Given the description of an element on the screen output the (x, y) to click on. 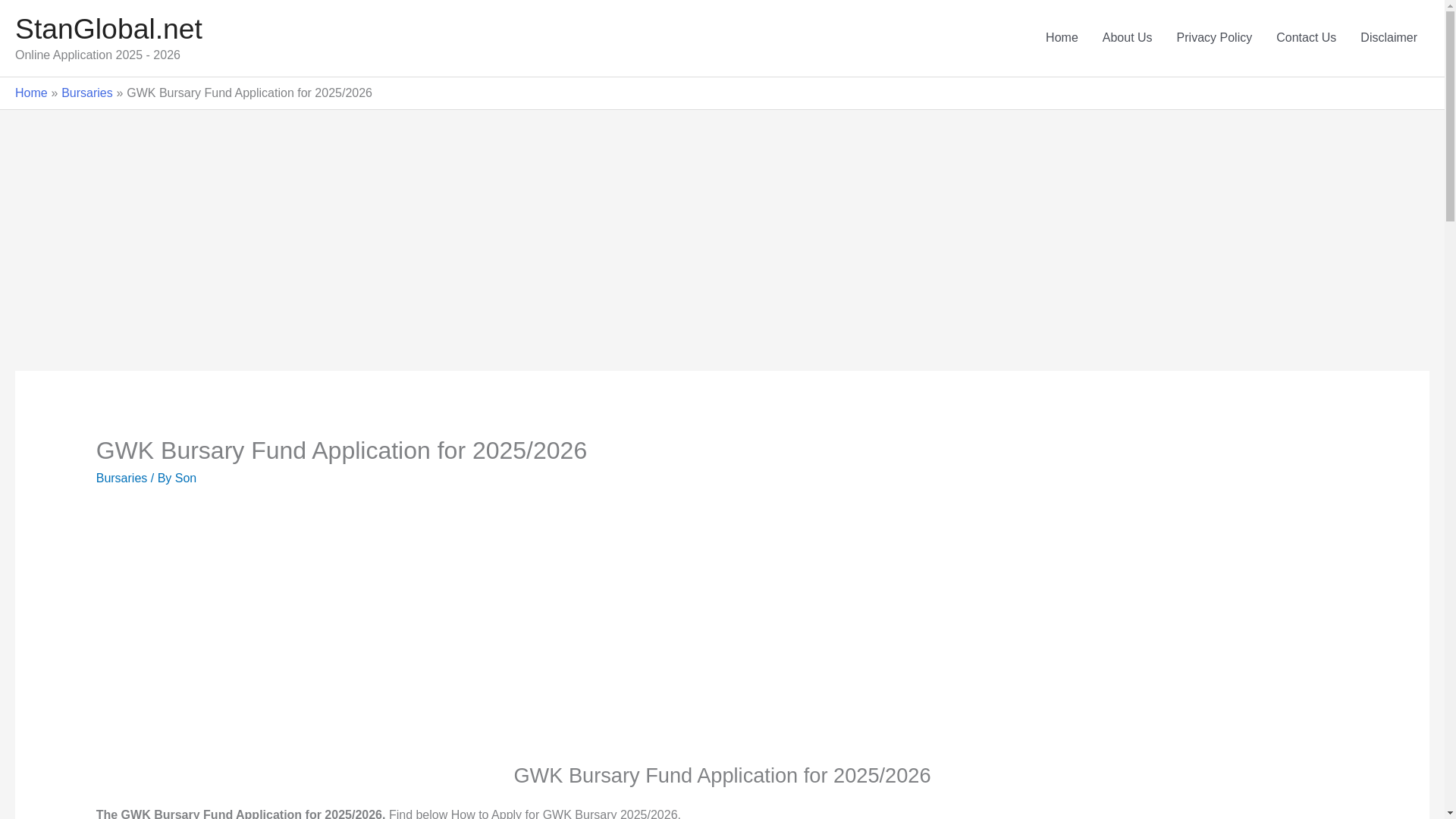
View all posts by Son (185, 477)
Privacy Policy (1214, 38)
Bursaries (122, 477)
StanGlobal.net (108, 29)
About Us (1127, 38)
Disclaimer (1388, 38)
Advertisement (338, 636)
Son (185, 477)
Bursaries (87, 92)
Contact Us (1305, 38)
Home (31, 92)
